Given the description of an element on the screen output the (x, y) to click on. 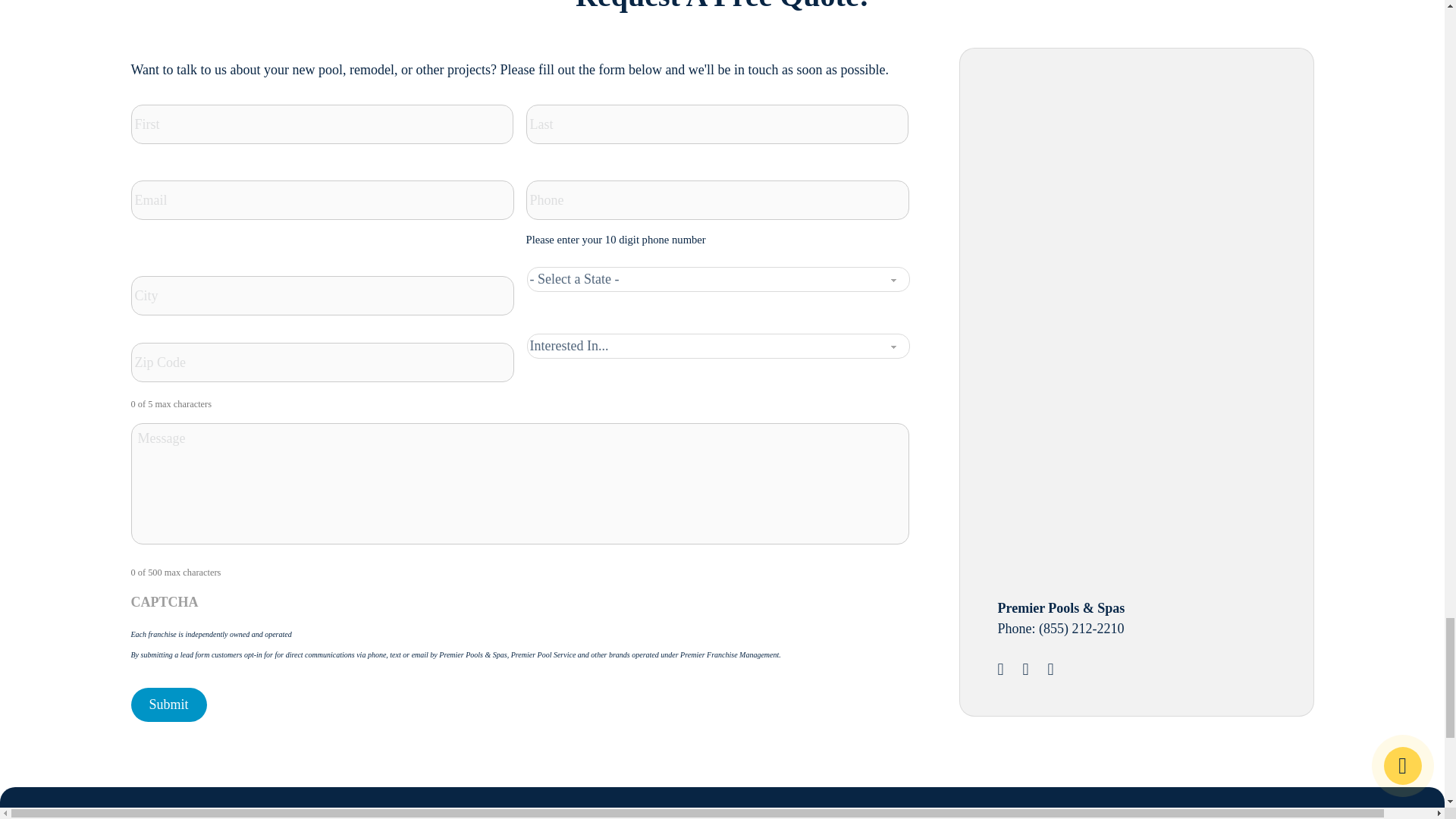
Design Your Pool (1111, 187)
Submit (168, 704)
Pool Financing (1111, 441)
